Given the description of an element on the screen output the (x, y) to click on. 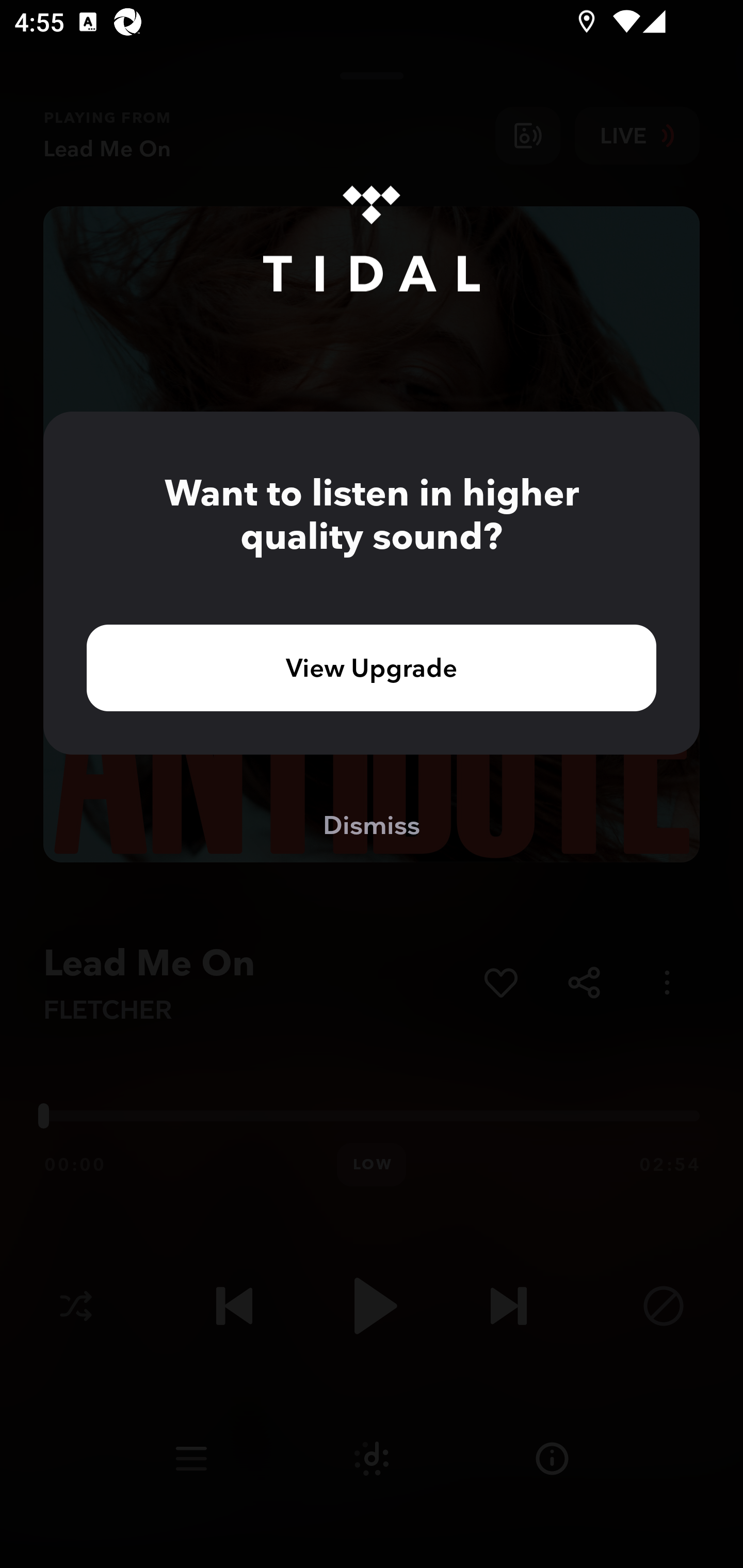
View Upgrade (371, 667)
Dismiss (371, 824)
